Given the description of an element on the screen output the (x, y) to click on. 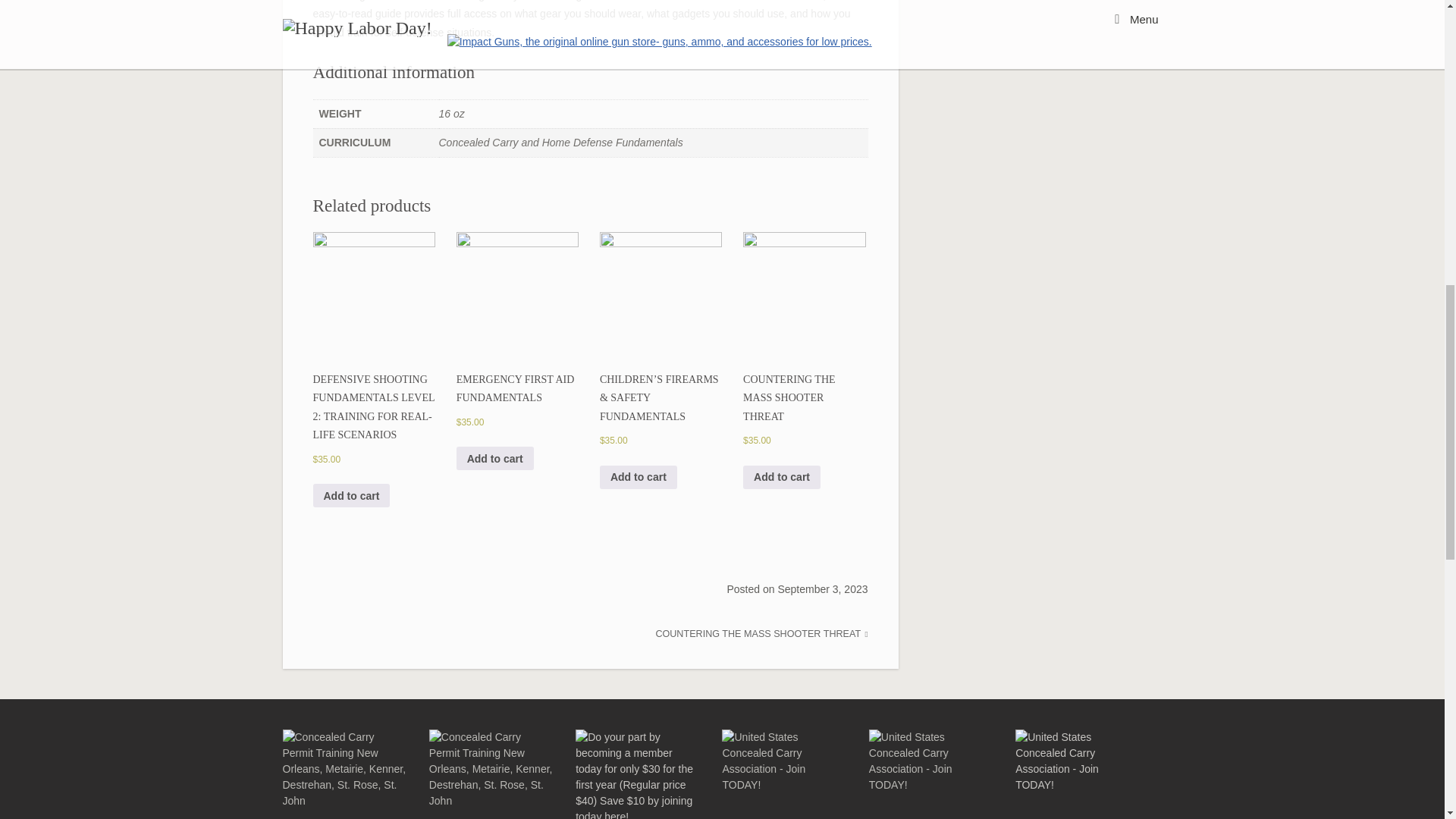
NRA Basic Pistol Certified Instructor (344, 774)
Add to cart (351, 495)
7:13 pm (822, 589)
Add to cart (495, 458)
Chief Range Safety Officer Certified (491, 774)
